Given the description of an element on the screen output the (x, y) to click on. 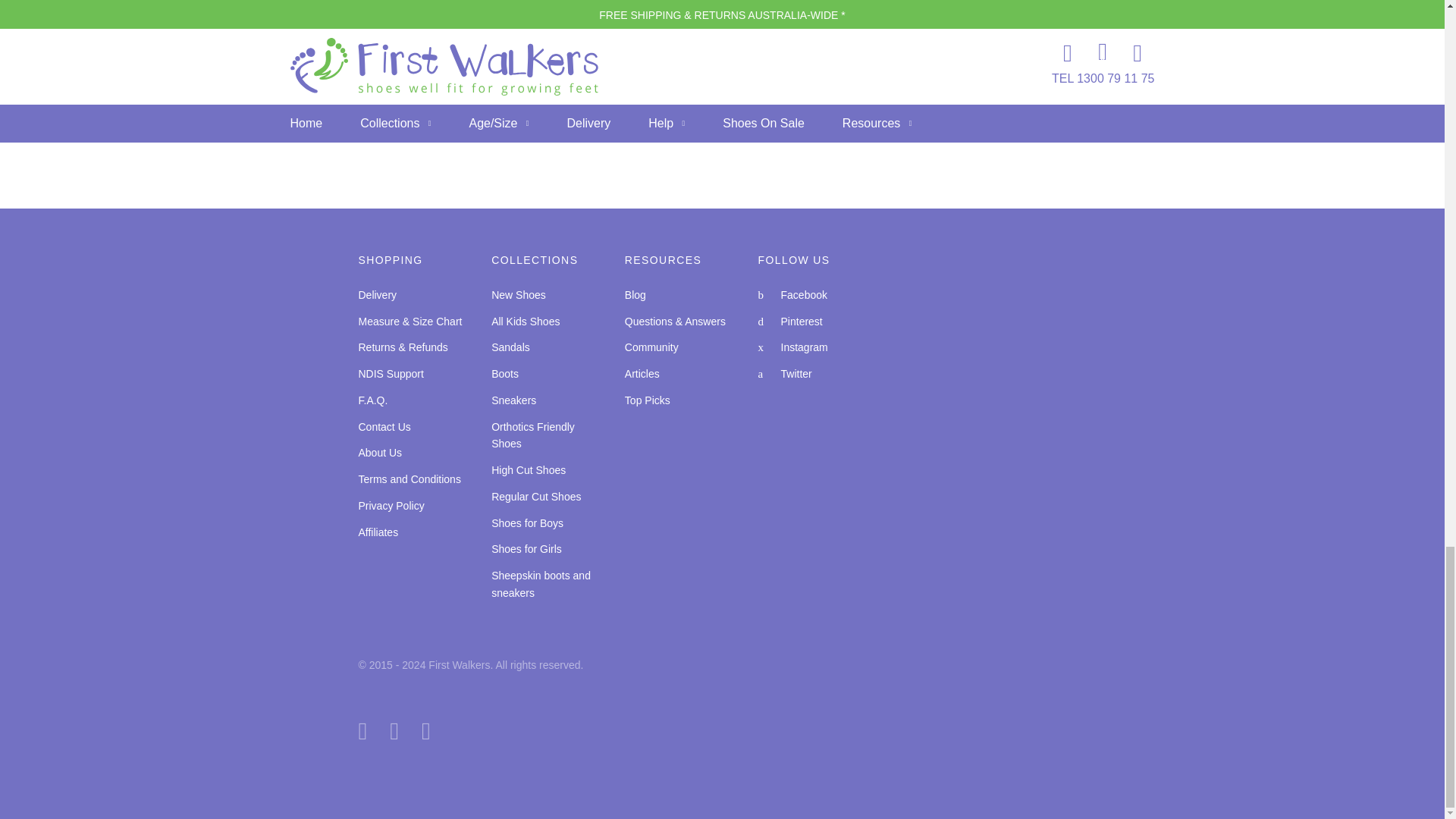
Subscribe (868, 121)
